Given the description of an element on the screen output the (x, y) to click on. 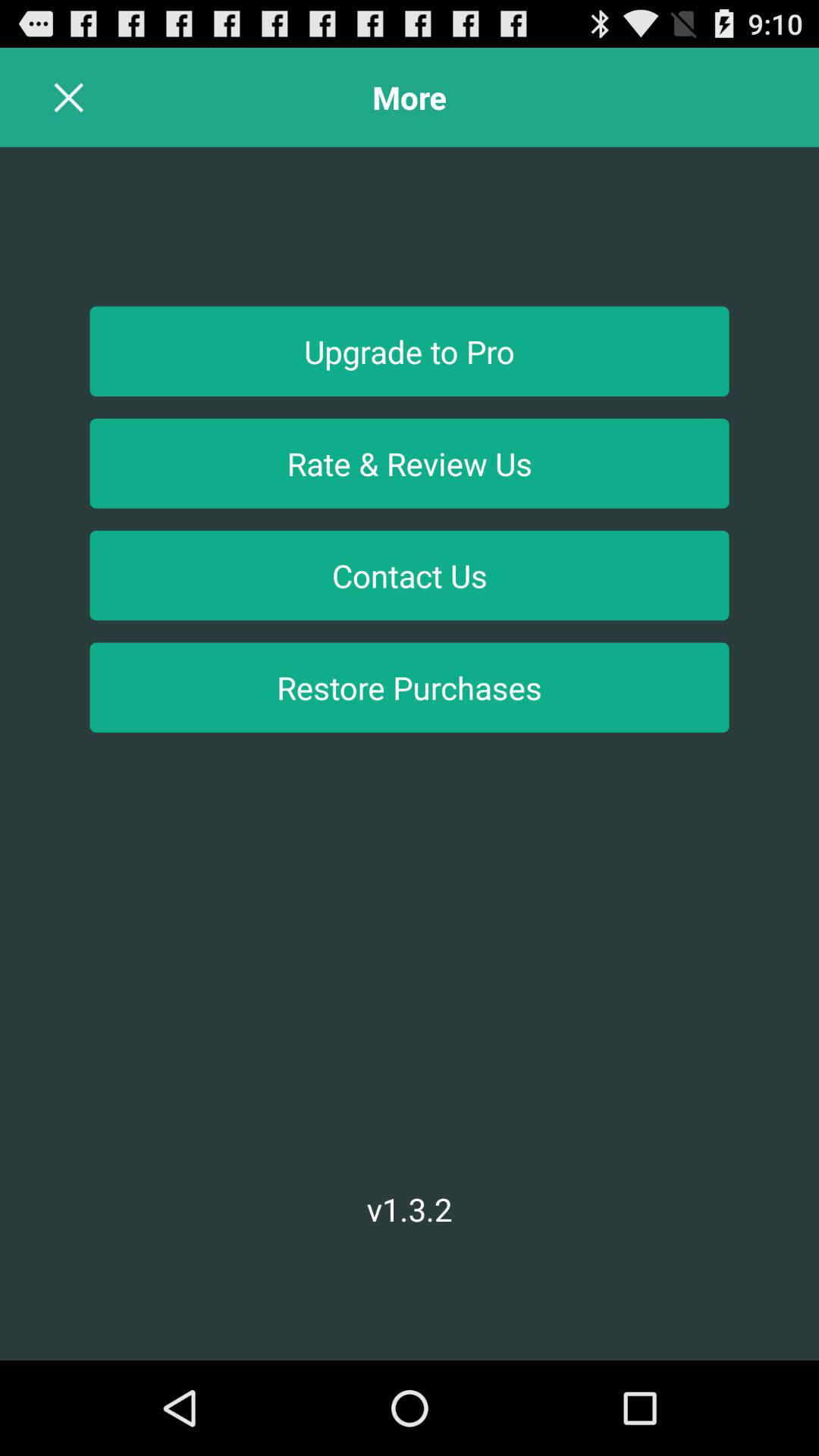
open icon at the top left corner (69, 97)
